Given the description of an element on the screen output the (x, y) to click on. 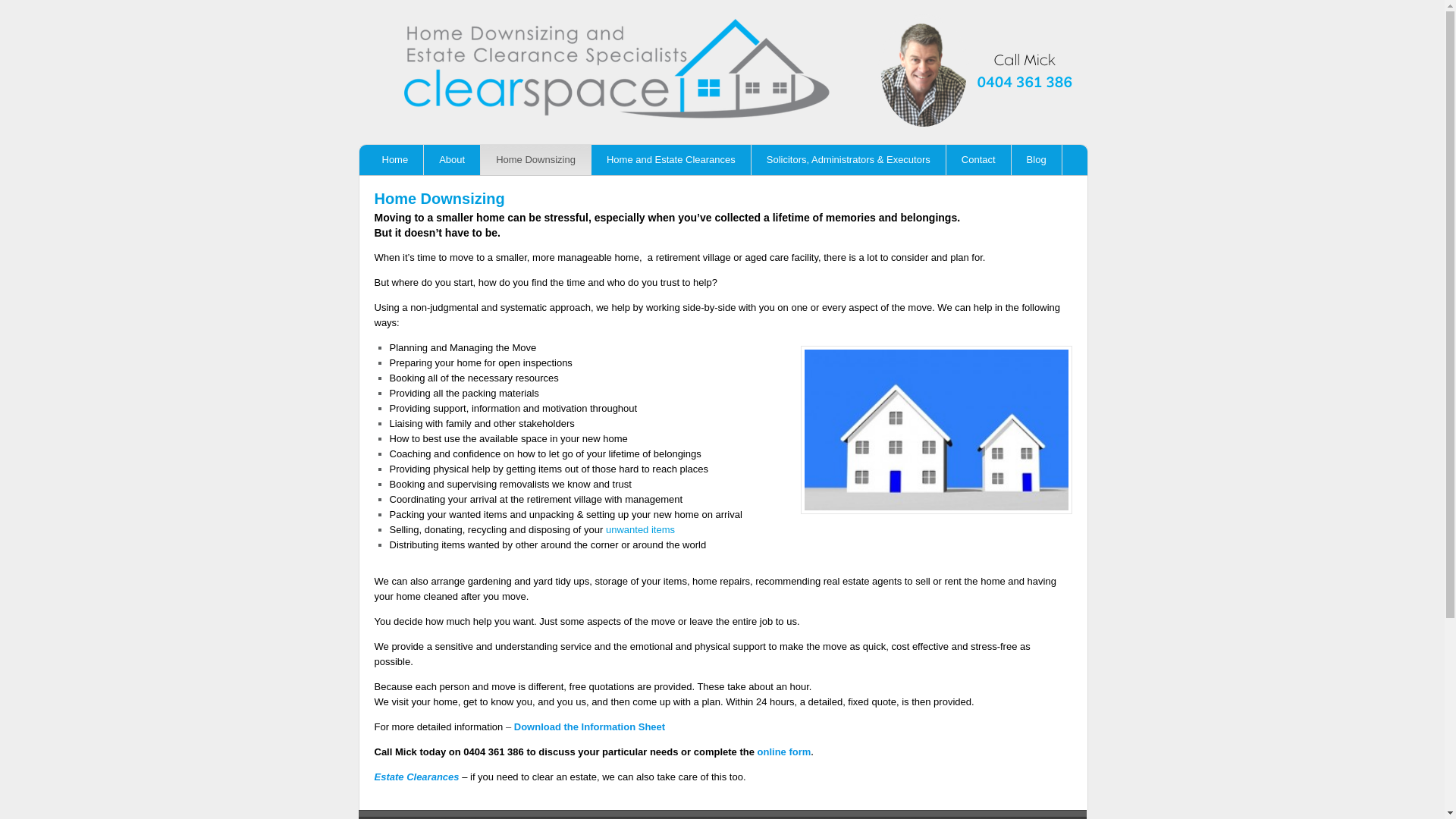
Contact Element type: text (978, 159)
Solicitors, Administrators & Executors Element type: text (848, 159)
Blog Element type: text (1036, 159)
Home Element type: text (395, 159)
Two houses Element type: hover (936, 429)
Home Downsizing Element type: text (535, 159)
Estate Clearances Element type: text (416, 776)
unwanted items Element type: text (639, 529)
Home and Estate Clearances Element type: text (671, 159)
About Element type: text (451, 159)
Download the Information Sheet Element type: text (589, 726)
online form Element type: text (784, 751)
